Given the description of an element on the screen output the (x, y) to click on. 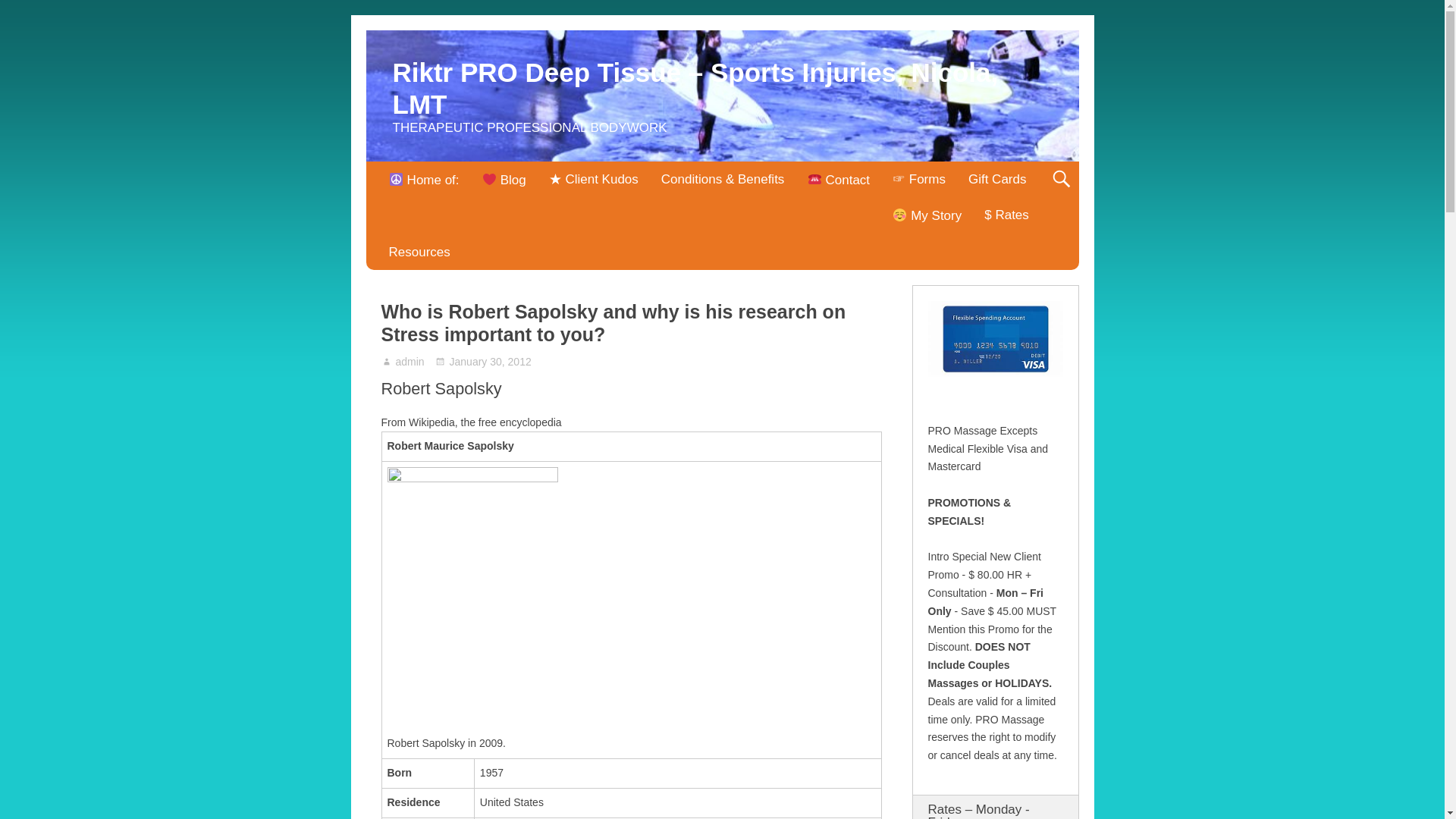
admin (410, 361)
Resources (419, 252)
Home of: (423, 179)
Robert Sapolsky in 2009. (472, 478)
My Story (926, 215)
Gift Cards (997, 179)
Posts by admin (410, 361)
Contact (837, 179)
Blog (503, 179)
